Given the description of an element on the screen output the (x, y) to click on. 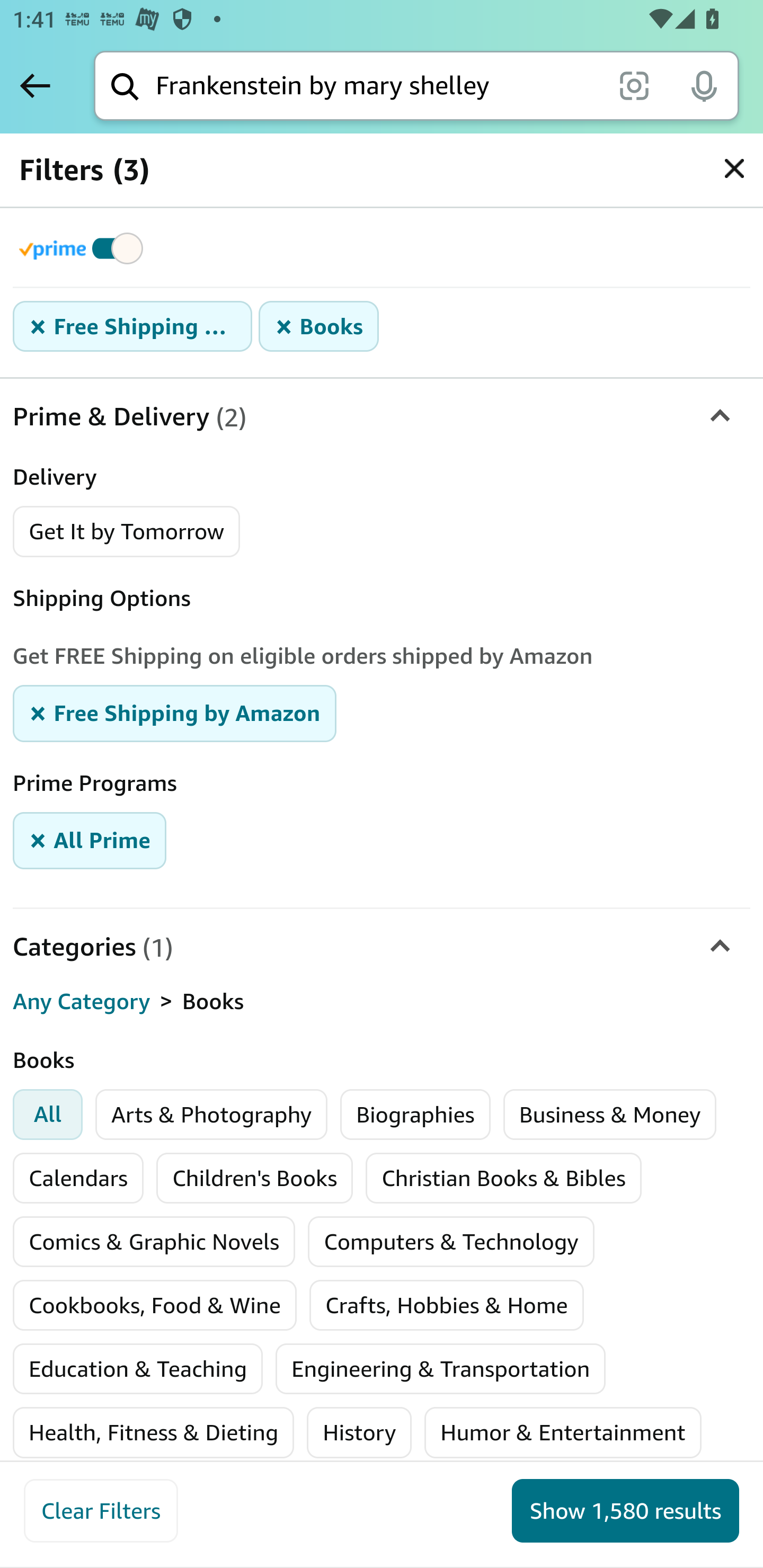
Back (35, 85)
scan it (633, 85)
Toggle to filter by Prime products Prime Eligible (83, 247)
× Books × Books (318, 326)
Prime & Delivery (2) (381, 416)
Get It by Tomorrow (126, 531)
× All Prime × All Prime (89, 839)
Categories (1) (381, 945)
Any Category (81, 1001)
Arts & Photography (211, 1114)
Biographies (415, 1114)
Business & Money (609, 1114)
Calendars (78, 1178)
Children's Books (254, 1178)
Christian Books & Bibles (503, 1178)
Comics & Graphic Novels (154, 1241)
Computers & Technology (450, 1241)
Cookbooks, Food & Wine (154, 1305)
Crafts, Hobbies & Home (446, 1305)
Education & Teaching (137, 1368)
Engineering & Transportation (440, 1368)
Health, Fitness & Dieting (154, 1432)
History (359, 1432)
Humor & Entertainment (563, 1432)
Clear Filters (100, 1510)
Show 1,580 results (625, 1510)
